Given the description of an element on the screen output the (x, y) to click on. 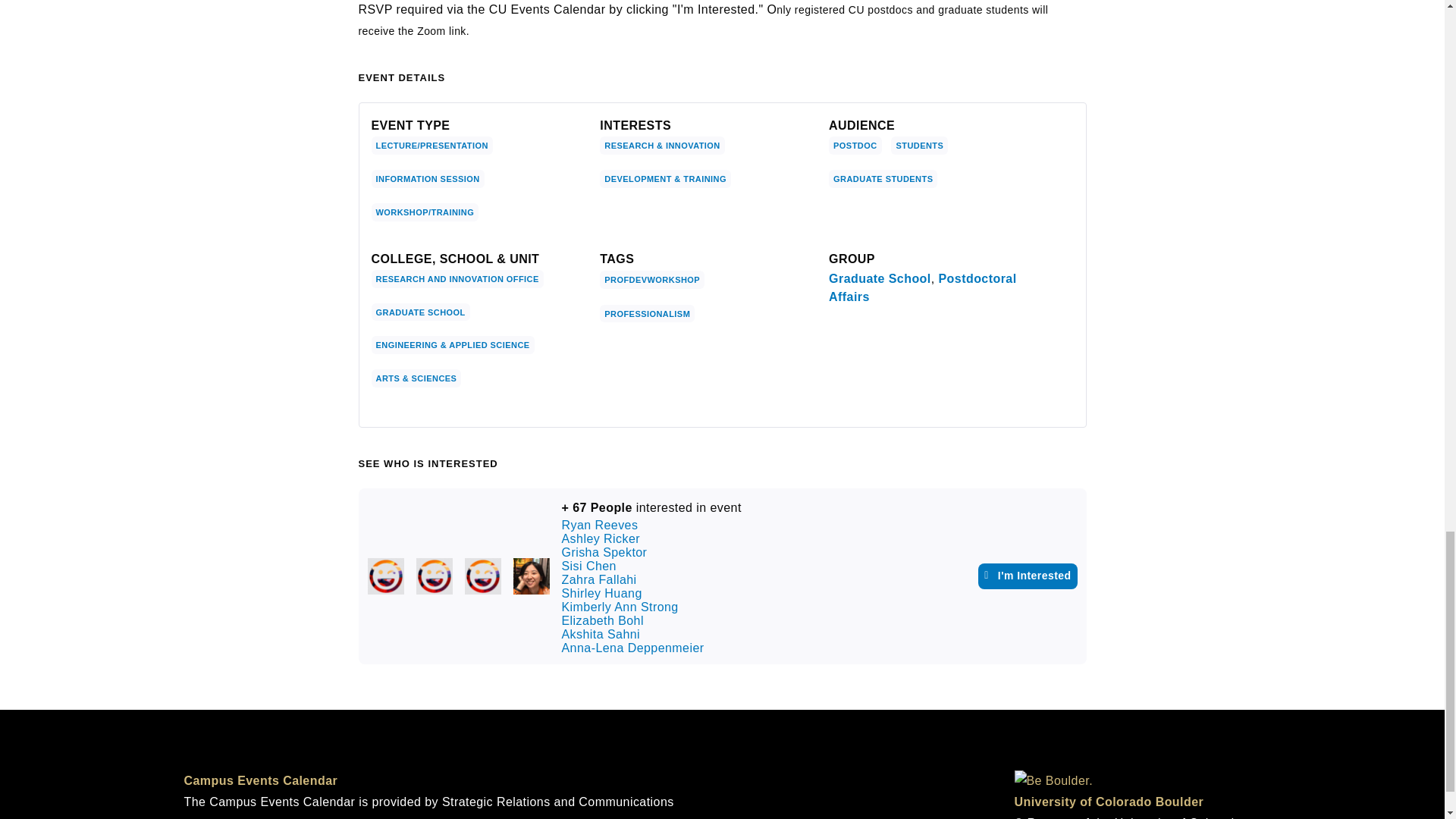
Ashley Ricker (432, 575)
Sisi Chen (530, 575)
Ryan Reeves (384, 575)
Grisha Spektor (482, 575)
